Given the description of an element on the screen output the (x, y) to click on. 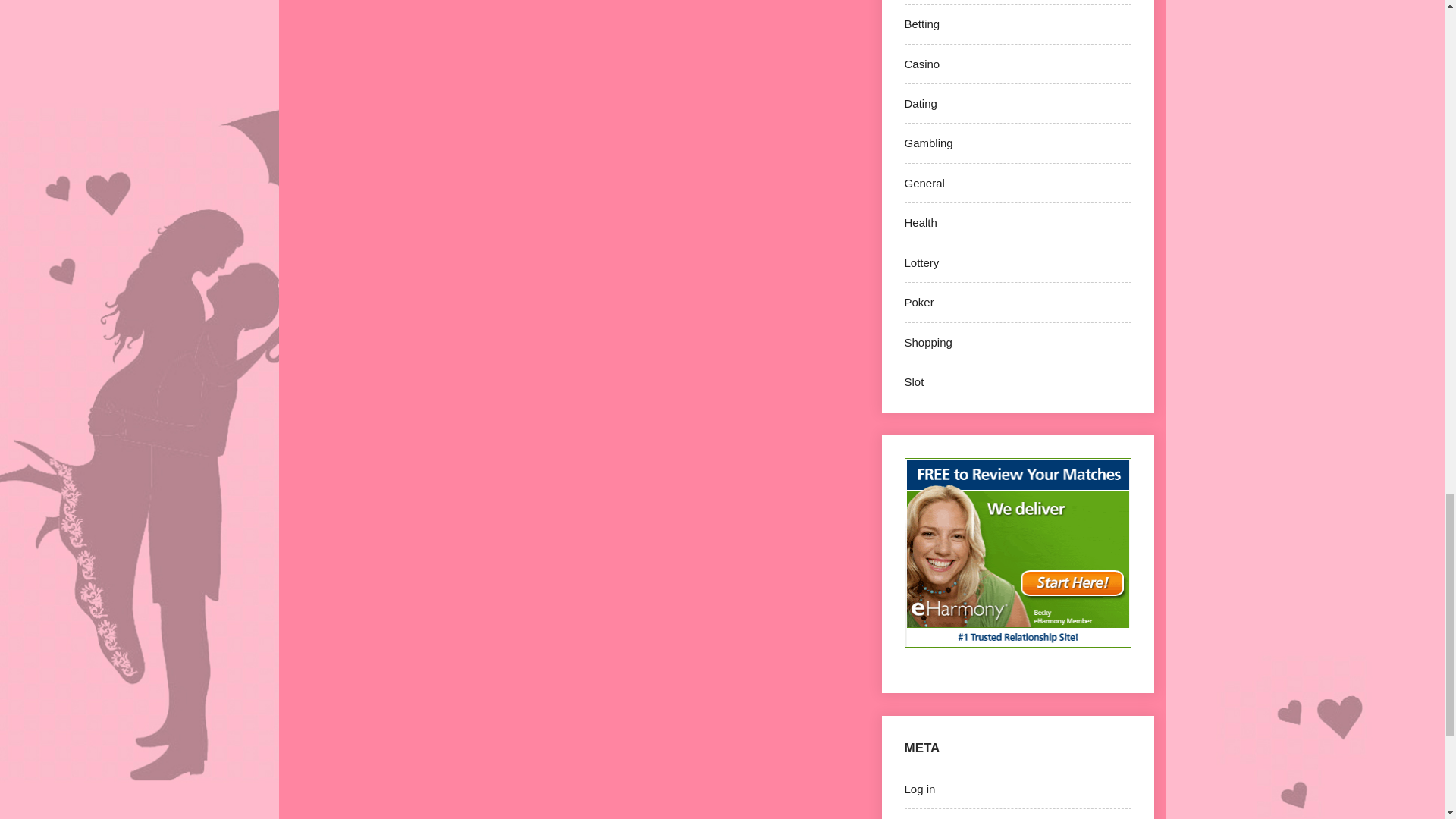
Poker (918, 301)
Betting (921, 23)
Lottery (921, 262)
Dating (920, 103)
Shopping (928, 341)
Gambling (928, 142)
Casino (921, 63)
General (923, 182)
Log in (919, 788)
Health (920, 222)
